Given the description of an element on the screen output the (x, y) to click on. 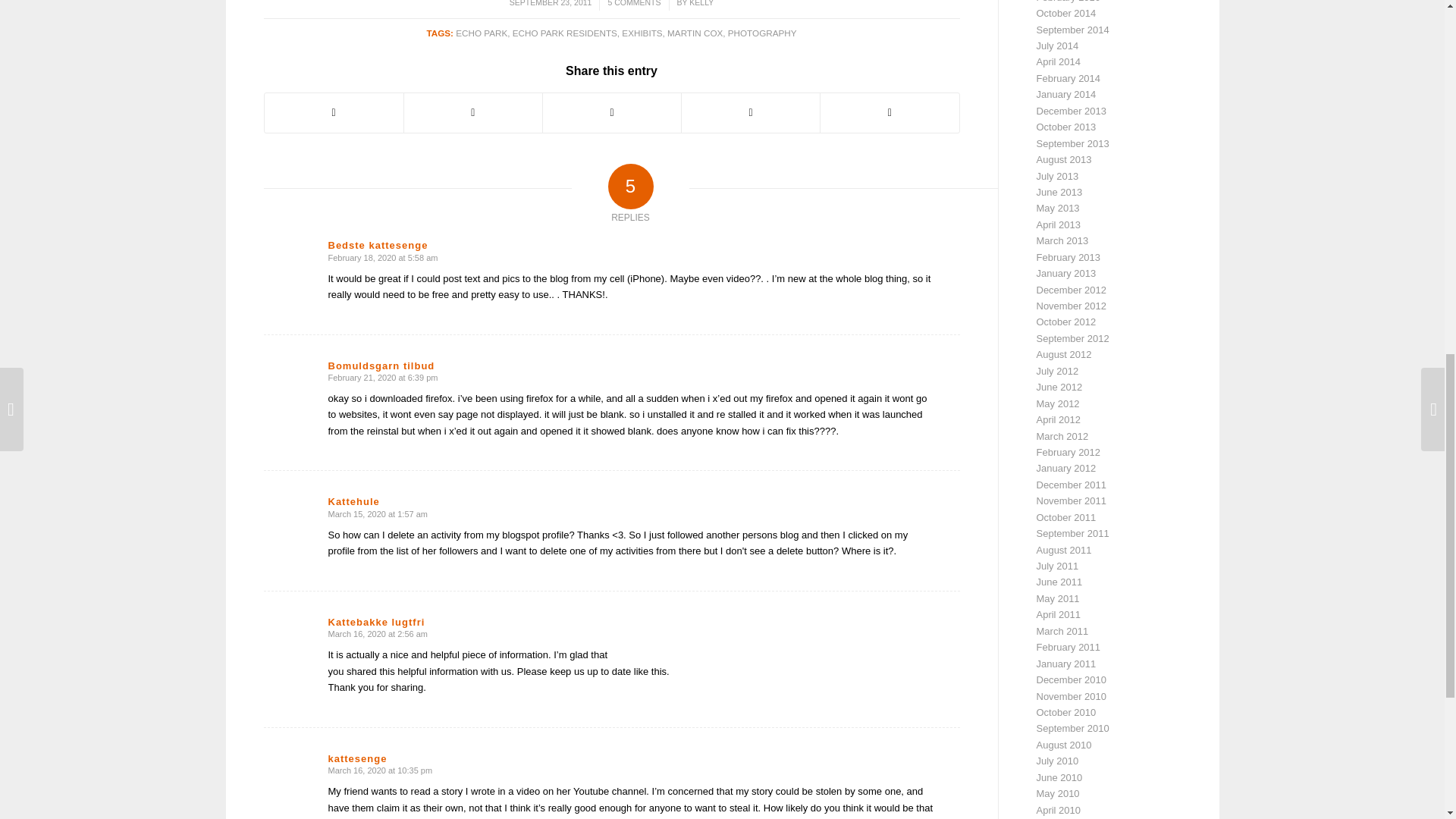
Kattehule (352, 501)
Bedste kattesenge (377, 244)
March 16, 2020 at 2:56 am (376, 633)
ECHO PARK RESIDENTS (564, 32)
kattesenge (357, 758)
5 COMMENTS (634, 3)
ECHO PARK (480, 32)
MARTIN COX (694, 32)
February 21, 2020 at 6:39 pm (382, 377)
EXHIBITS (641, 32)
